Given the description of an element on the screen output the (x, y) to click on. 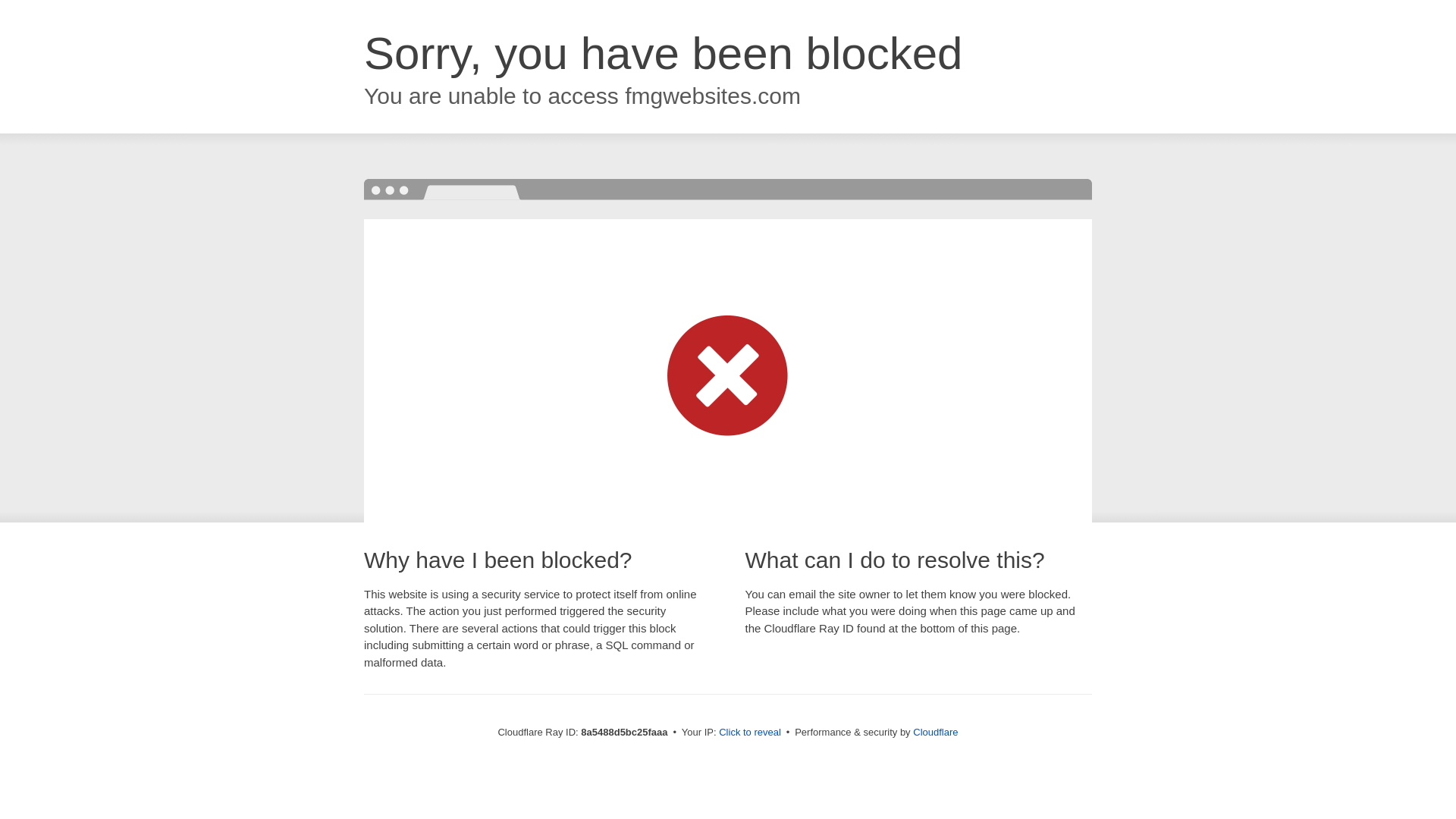
Cloudflare (935, 731)
Click to reveal (749, 732)
